Given the description of an element on the screen output the (x, y) to click on. 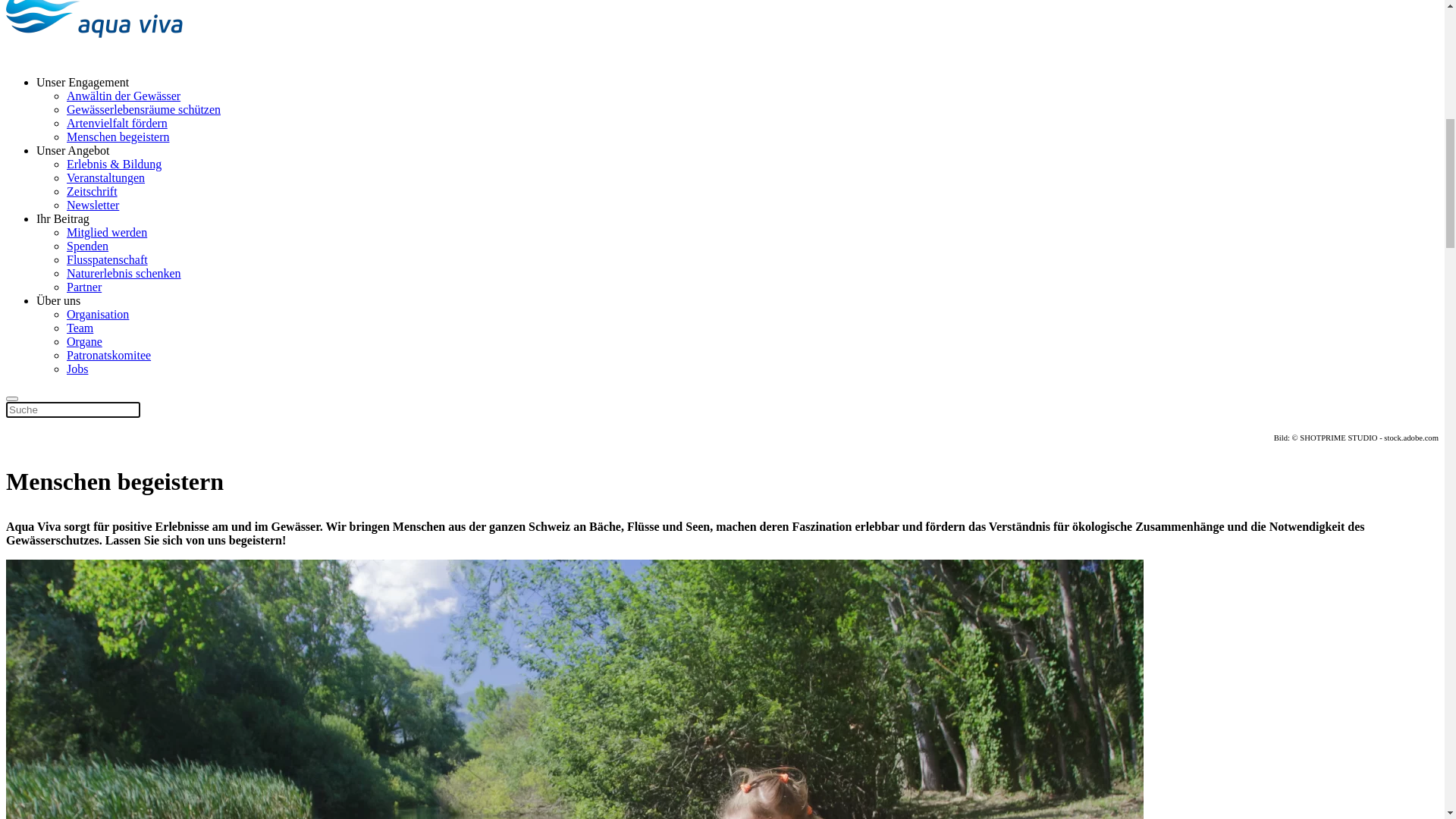
Naturerlebnis schenken Element type: text (123, 283)
Zeitschrift Element type: text (61, 432)
Patronatskomitee Element type: text (108, 365)
Organe Element type: text (84, 351)
Aktuelles Element type: text (59, 526)
Spenden Element type: text (26, 485)
Unser Engagement Element type: text (82, 92)
Medien Element type: text (54, 567)
Vorstand Element type: text (87, 595)
Unser Engagement Element type: text (82, 766)
Login Element type: text (50, 581)
Ihr Beitrag Element type: text (62, 228)
eingeloggt Element type: text (92, 608)
Organisation Element type: text (97, 324)
Spenden Element type: text (87, 256)
Menschen begeistern Element type: text (117, 147)
Spenden Element type: text (26, 634)
Medien Element type: text (54, 445)
Team Element type: text (79, 338)
Skip to main content Element type: text (56, 12)
Flusspatenschaft Element type: text (106, 269)
Themen Element type: text (55, 540)
Login Element type: text (50, 459)
Erlebnis & Bildung Element type: text (113, 174)
Partner Element type: text (83, 297)
Zeitschrift Element type: text (61, 554)
Themen Element type: text (55, 418)
Aktuelles Element type: text (59, 404)
Zeitschrift Element type: text (91, 201)
Unser Angebot Element type: text (72, 160)
Newsletter Element type: text (92, 215)
Veranstaltungen Element type: text (105, 188)
Mitglied werden Element type: text (106, 242)
Jobs Element type: text (76, 379)
